Given the description of an element on the screen output the (x, y) to click on. 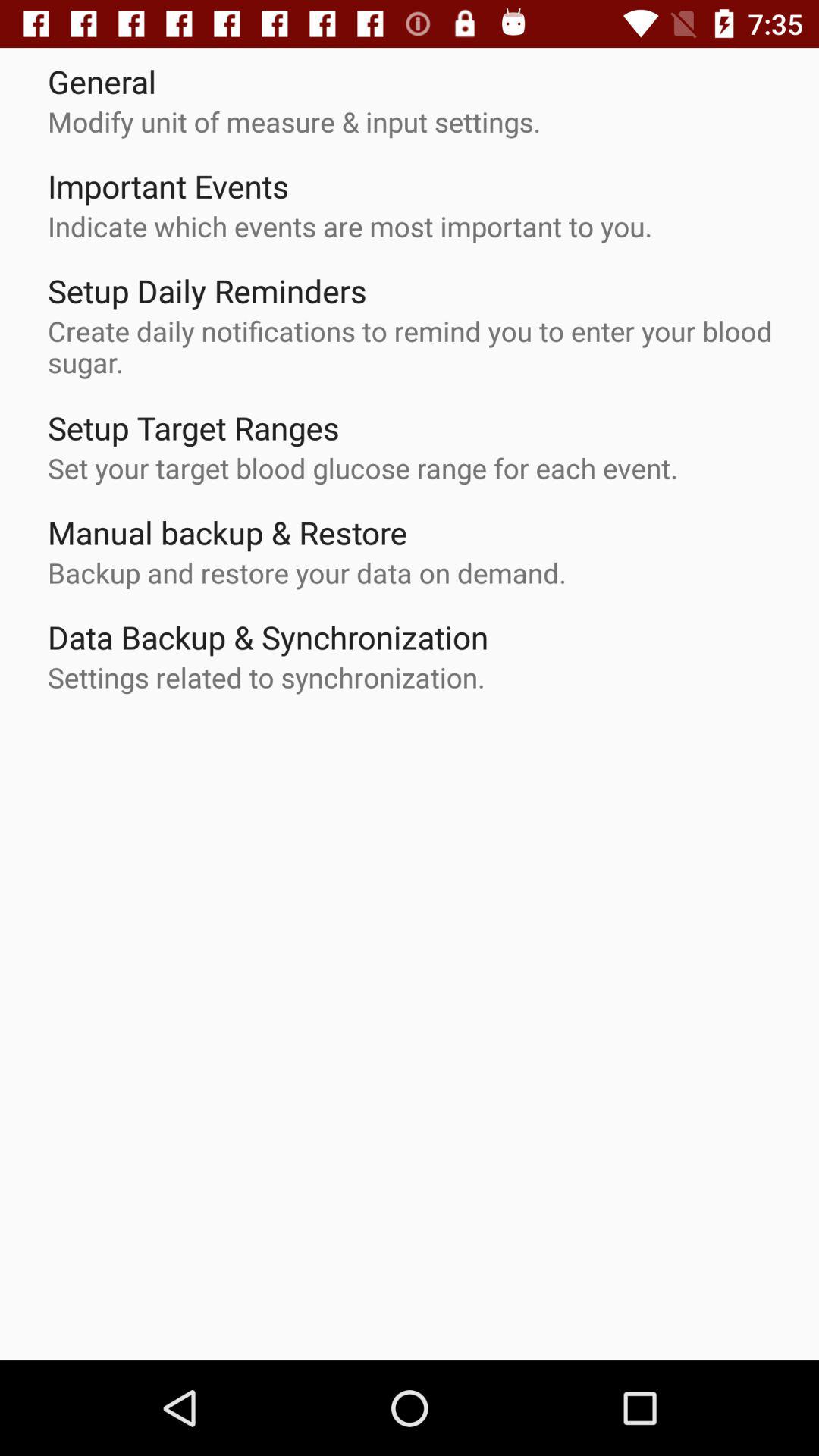
press the modify unit of icon (293, 121)
